Given the description of an element on the screen output the (x, y) to click on. 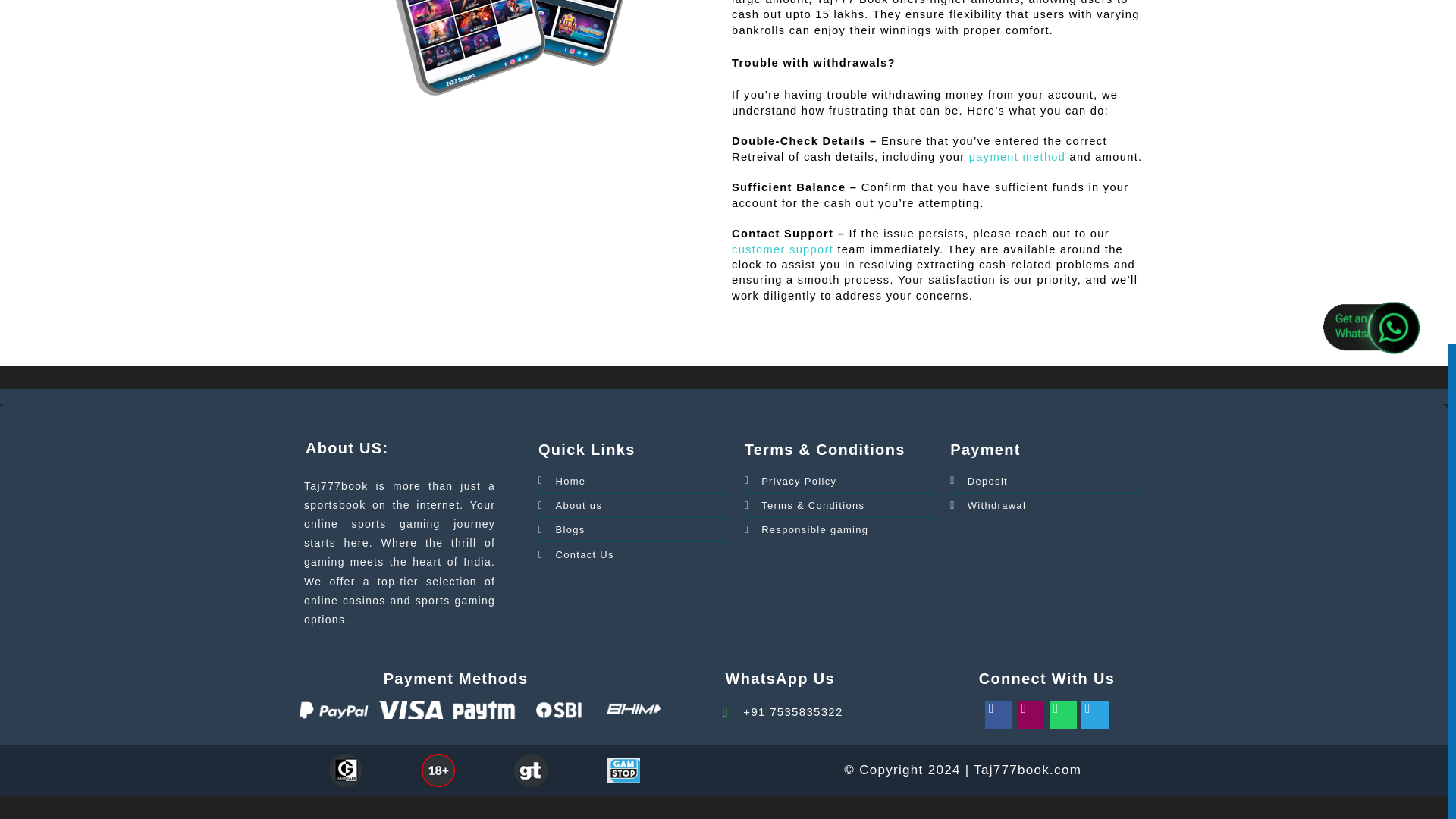
Privacy Policy (790, 480)
Contact Us (576, 554)
Home (561, 480)
Blogs (561, 529)
Deposit (978, 480)
About us (570, 505)
Responsible gaming (806, 529)
customer support (782, 249)
payment method (1017, 156)
Withdrawal (988, 505)
